Given the description of an element on the screen output the (x, y) to click on. 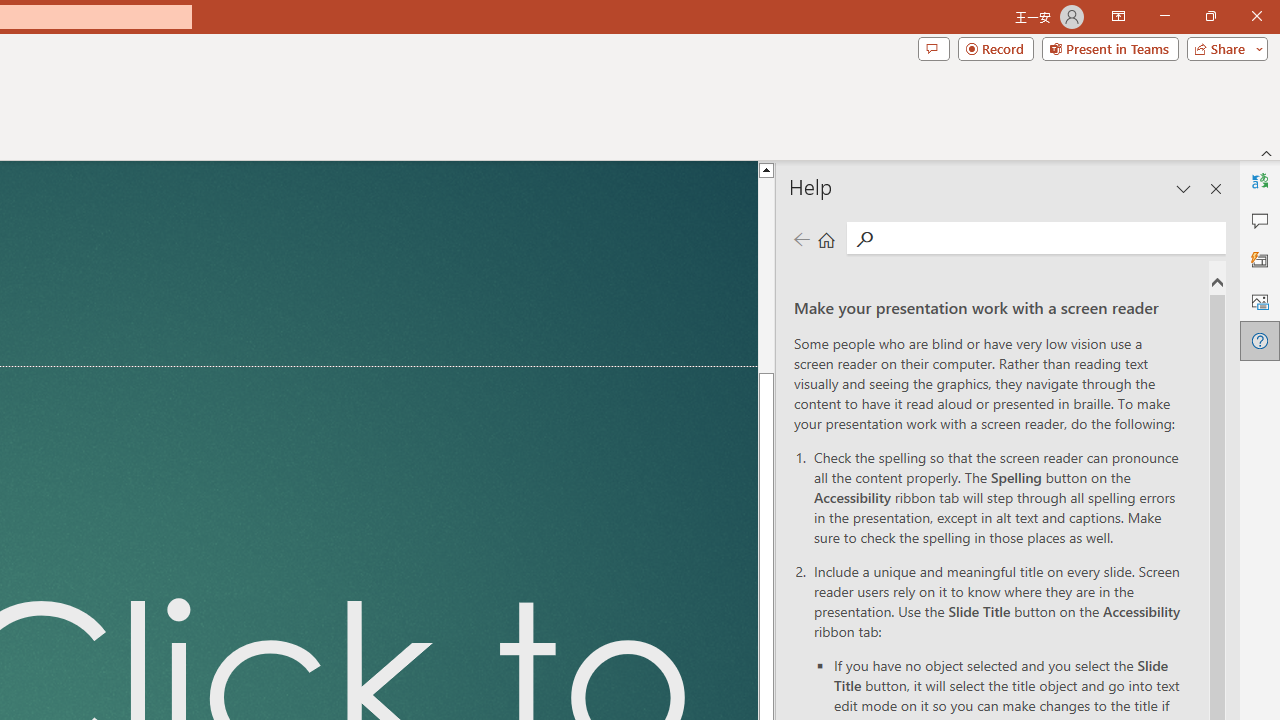
Previous page (801, 238)
